Given the description of an element on the screen output the (x, y) to click on. 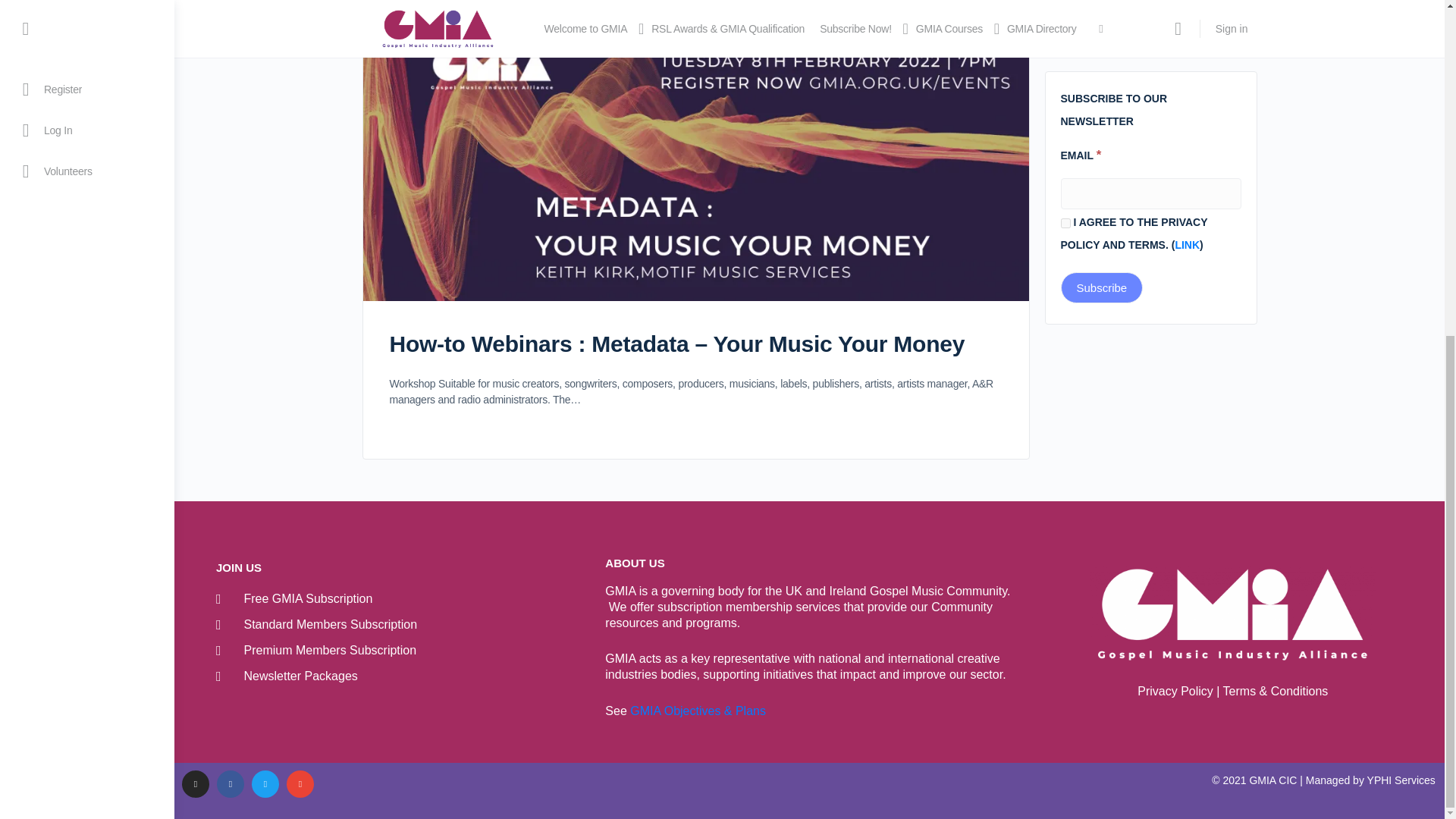
Subscribe (1100, 287)
1 (1064, 223)
